Given the description of an element on the screen output the (x, y) to click on. 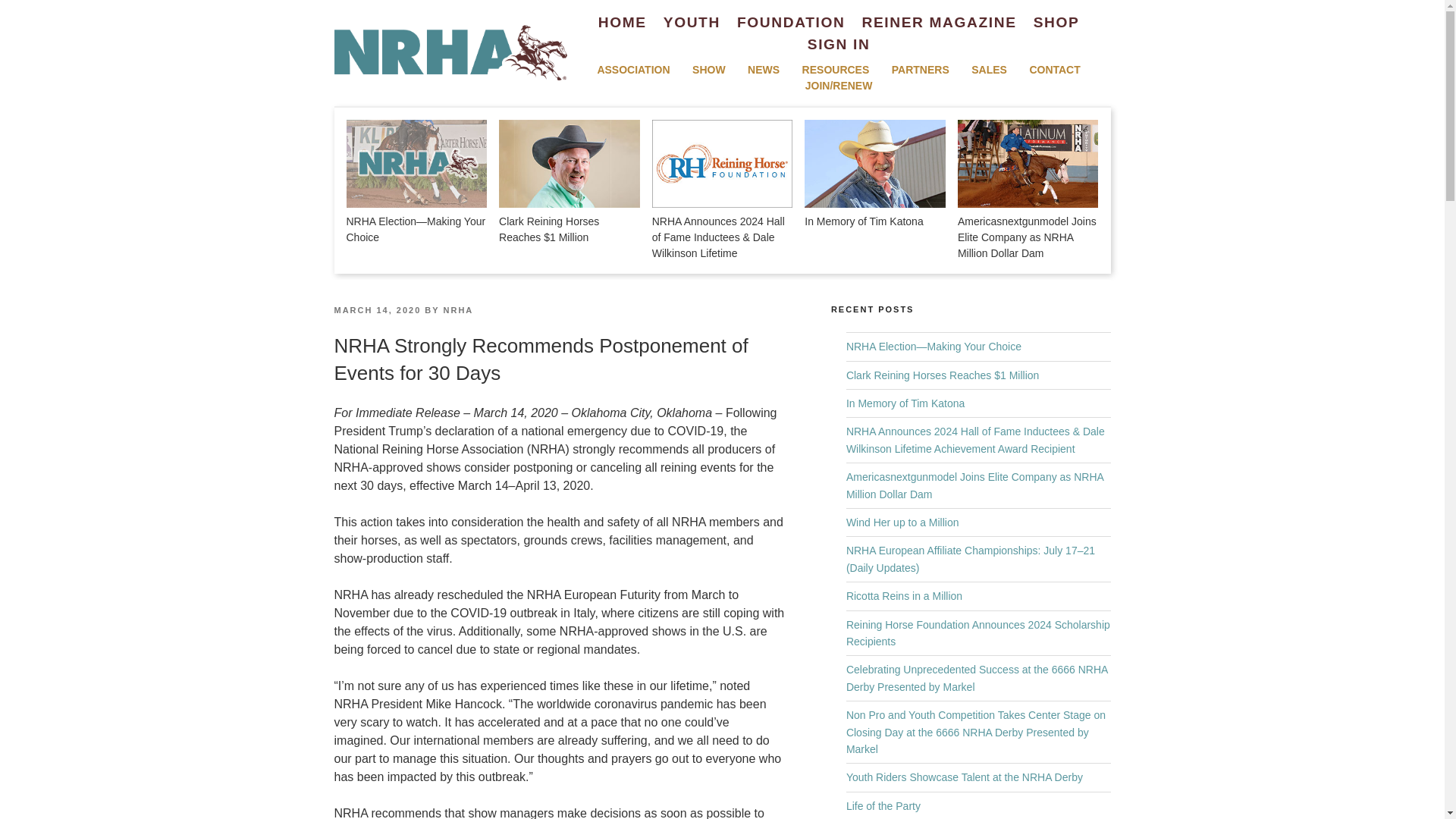
SIGN IN (839, 45)
FOUNDATION (790, 23)
SHOP (1056, 23)
REINER MAGAZINE (939, 23)
HOME (622, 23)
YOUTH (692, 23)
